Given the description of an element on the screen output the (x, y) to click on. 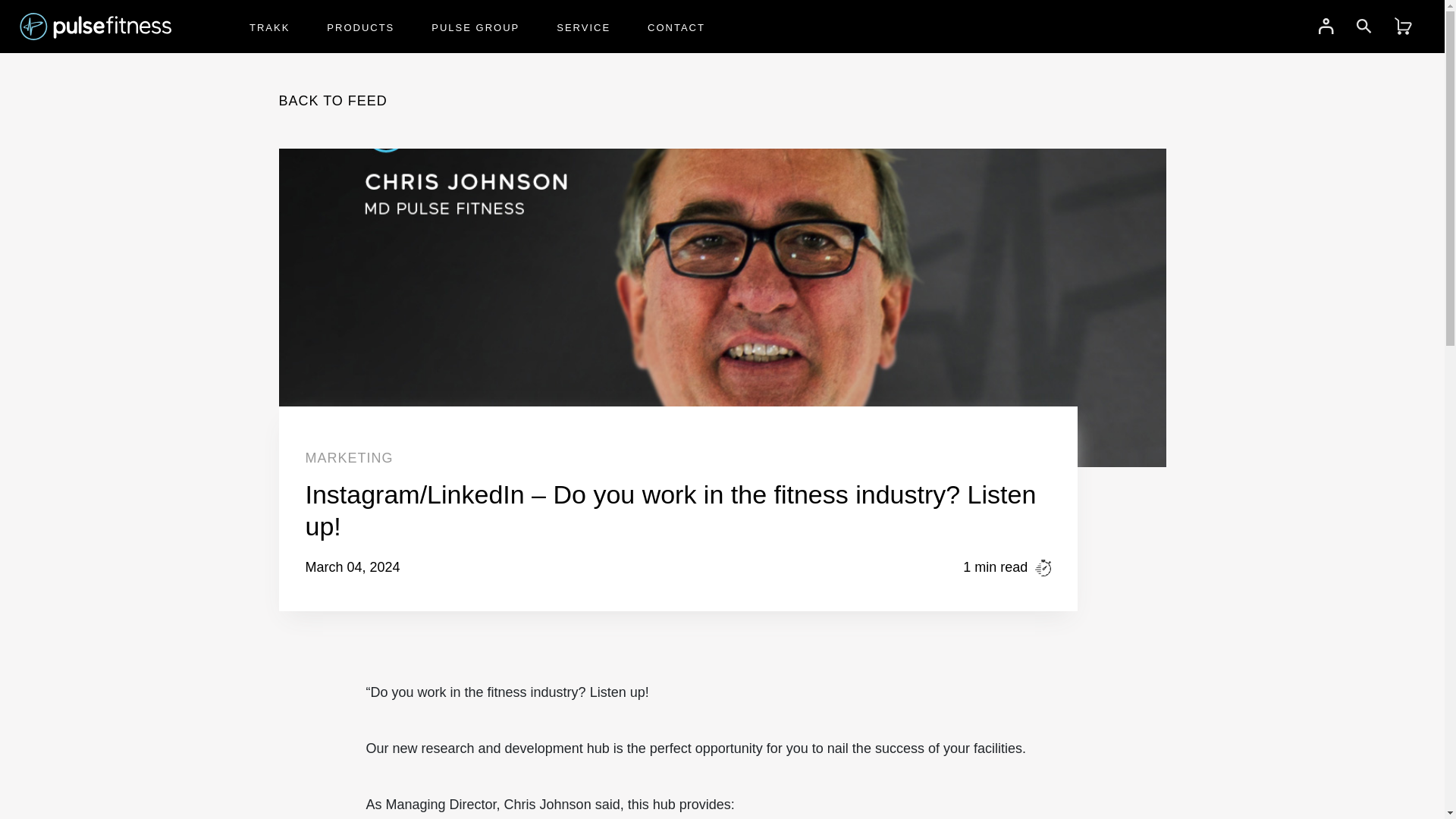
PRODUCTS (360, 28)
TRAKK (268, 28)
BACK TO FEED (333, 100)
